Given the description of an element on the screen output the (x, y) to click on. 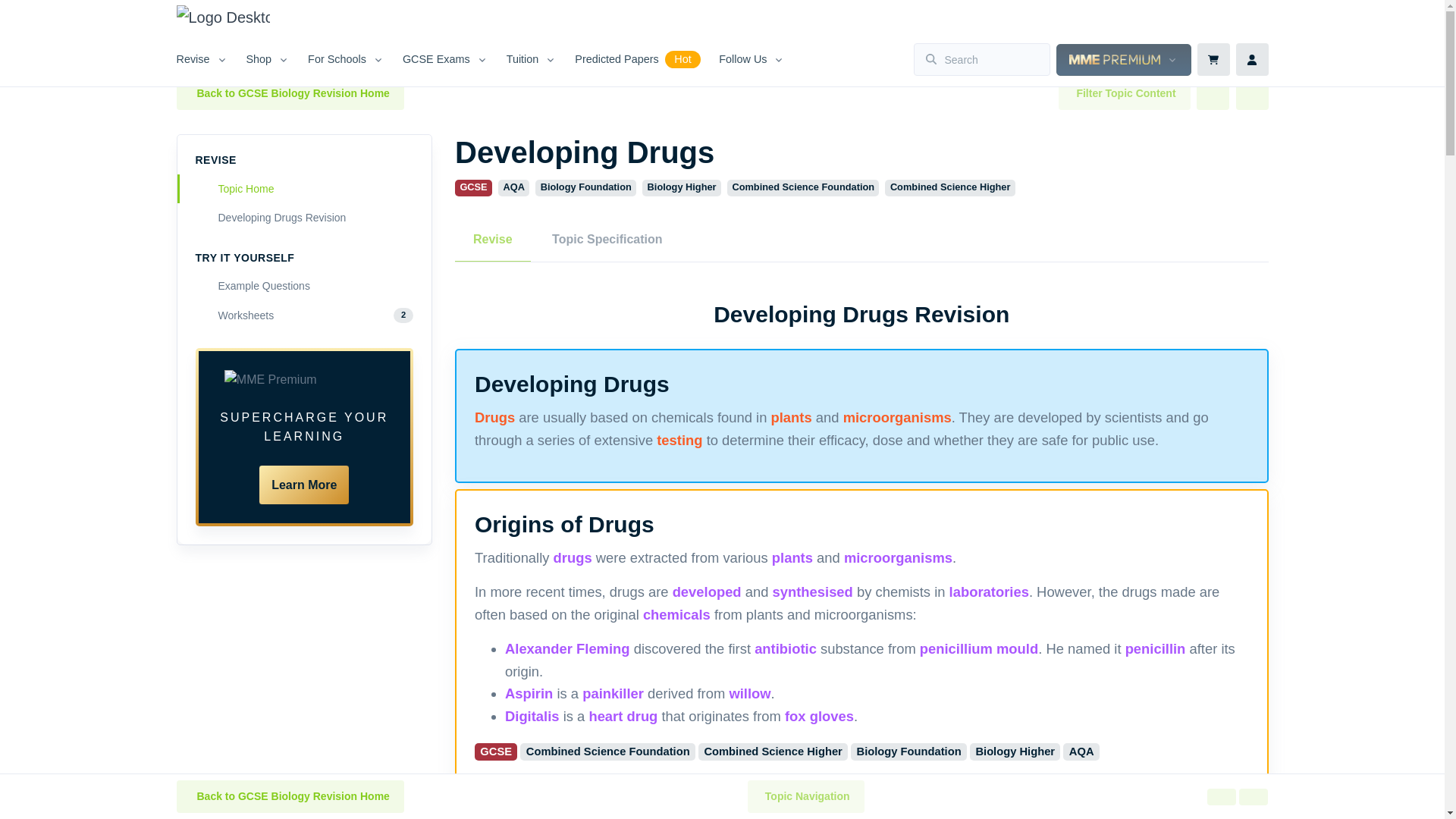
Previous Topic: Vaccinations and Drugs (1221, 796)
Next Topic: Monoclonal Antibodies (1253, 796)
Revise (205, 59)
Next Topic: Monoclonal Antibodies (1252, 92)
Previous Topic: Vaccinations and Drugs (1212, 92)
